Given the description of an element on the screen output the (x, y) to click on. 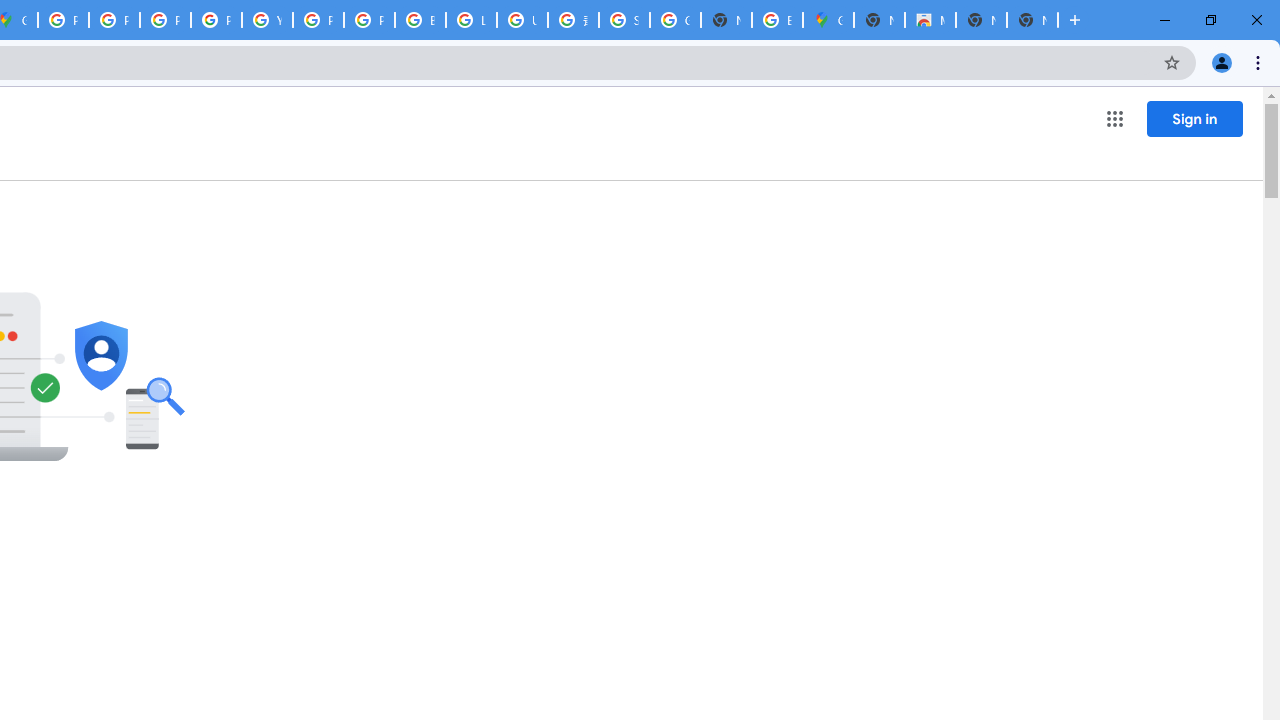
Privacy Help Center - Policies Help (164, 20)
Sign in - Google Accounts (624, 20)
Policy Accountability and Transparency - Transparency Center (63, 20)
Explore new street-level details - Google Maps Help (776, 20)
